Given the description of an element on the screen output the (x, y) to click on. 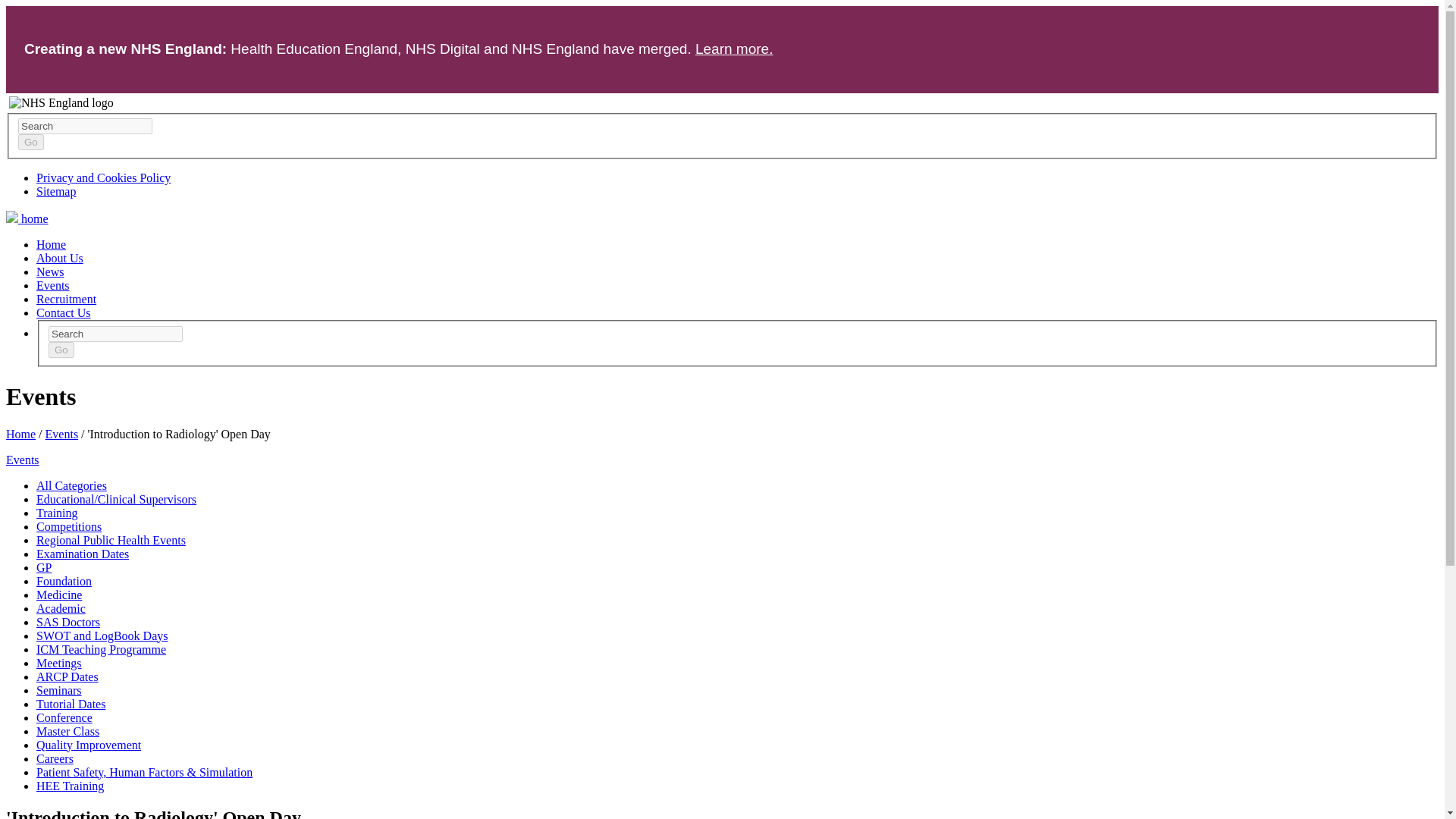
Learn more. (734, 48)
Training (57, 512)
Home (50, 244)
ARCP Dates (67, 676)
Academic (60, 608)
Meetings (58, 662)
Events (61, 433)
SAS Doctors (68, 621)
Events (22, 459)
News (50, 271)
